Given the description of an element on the screen output the (x, y) to click on. 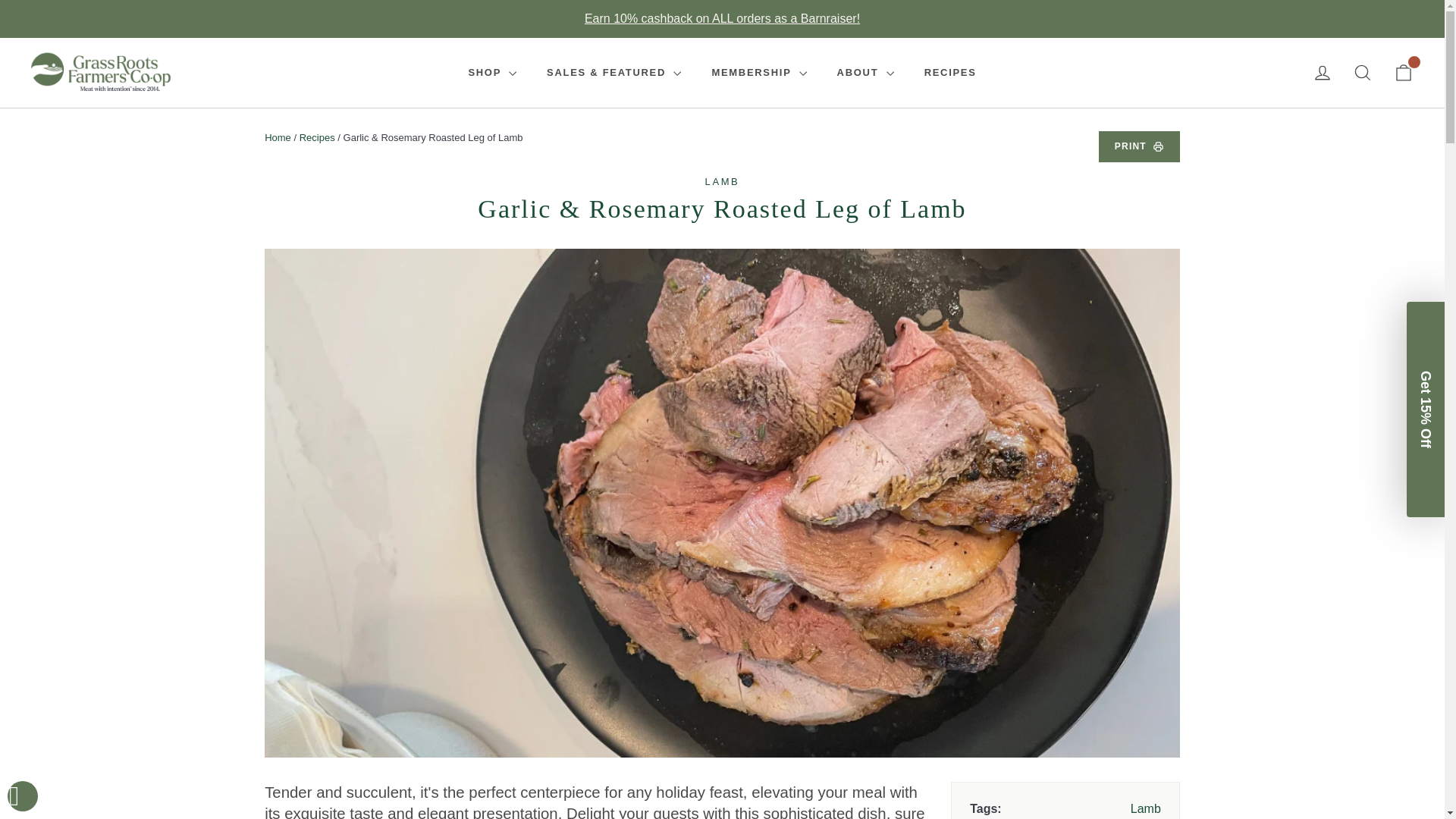
Back to the frontpage (277, 137)
